Given the description of an element on the screen output the (x, y) to click on. 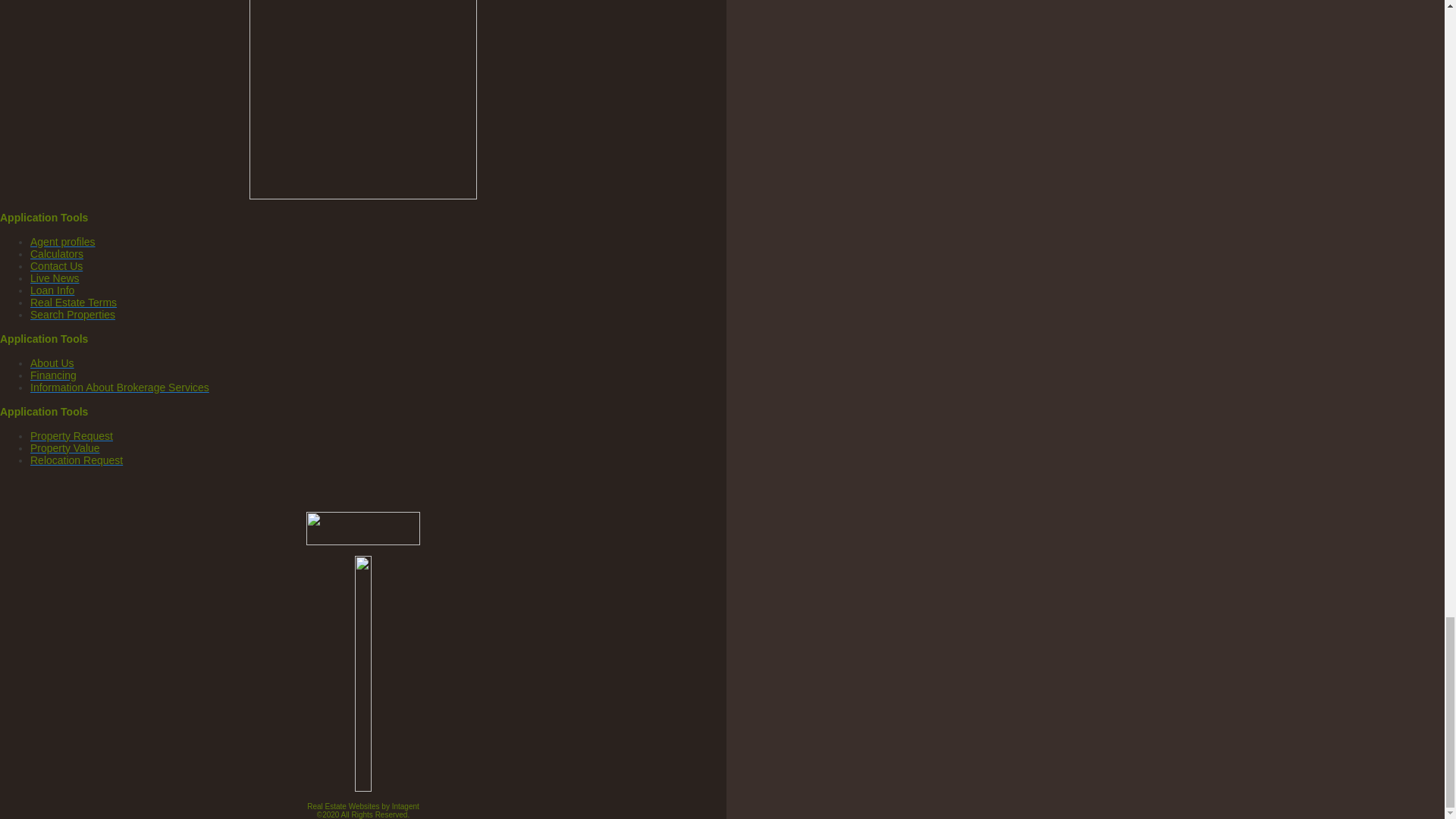
Relocation Request (76, 460)
Search Properties (72, 314)
Live News (55, 277)
Loan Info (52, 290)
Agent profiles (63, 241)
Calculators (56, 254)
Contact Us (56, 265)
About Us (52, 363)
Property Value (65, 448)
Real Estate Terms (73, 302)
Property Request (71, 435)
Information About Brokerage Services (119, 387)
Financing (53, 375)
